Given the description of an element on the screen output the (x, y) to click on. 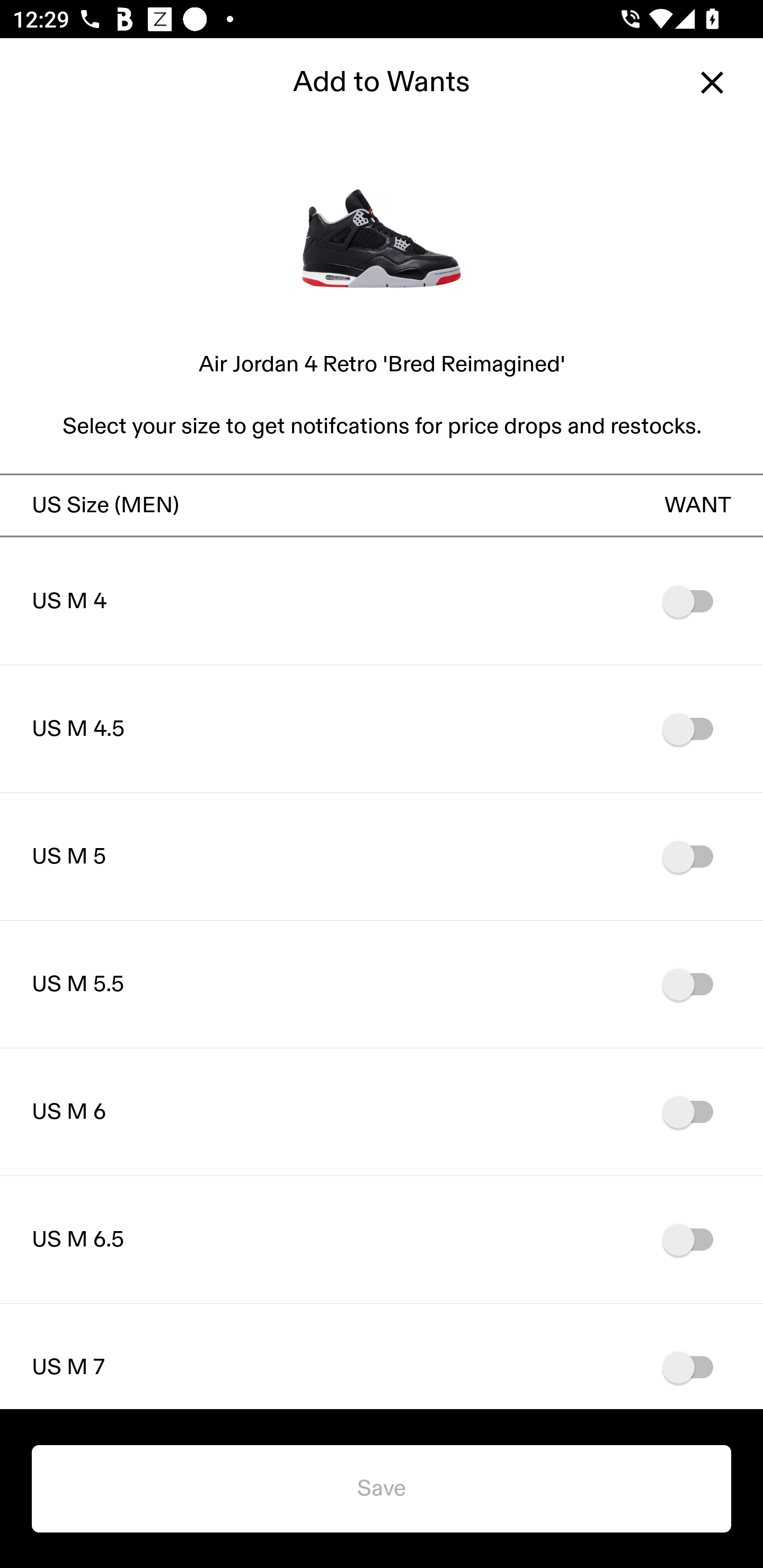
Save (381, 1488)
